Given the description of an element on the screen output the (x, y) to click on. 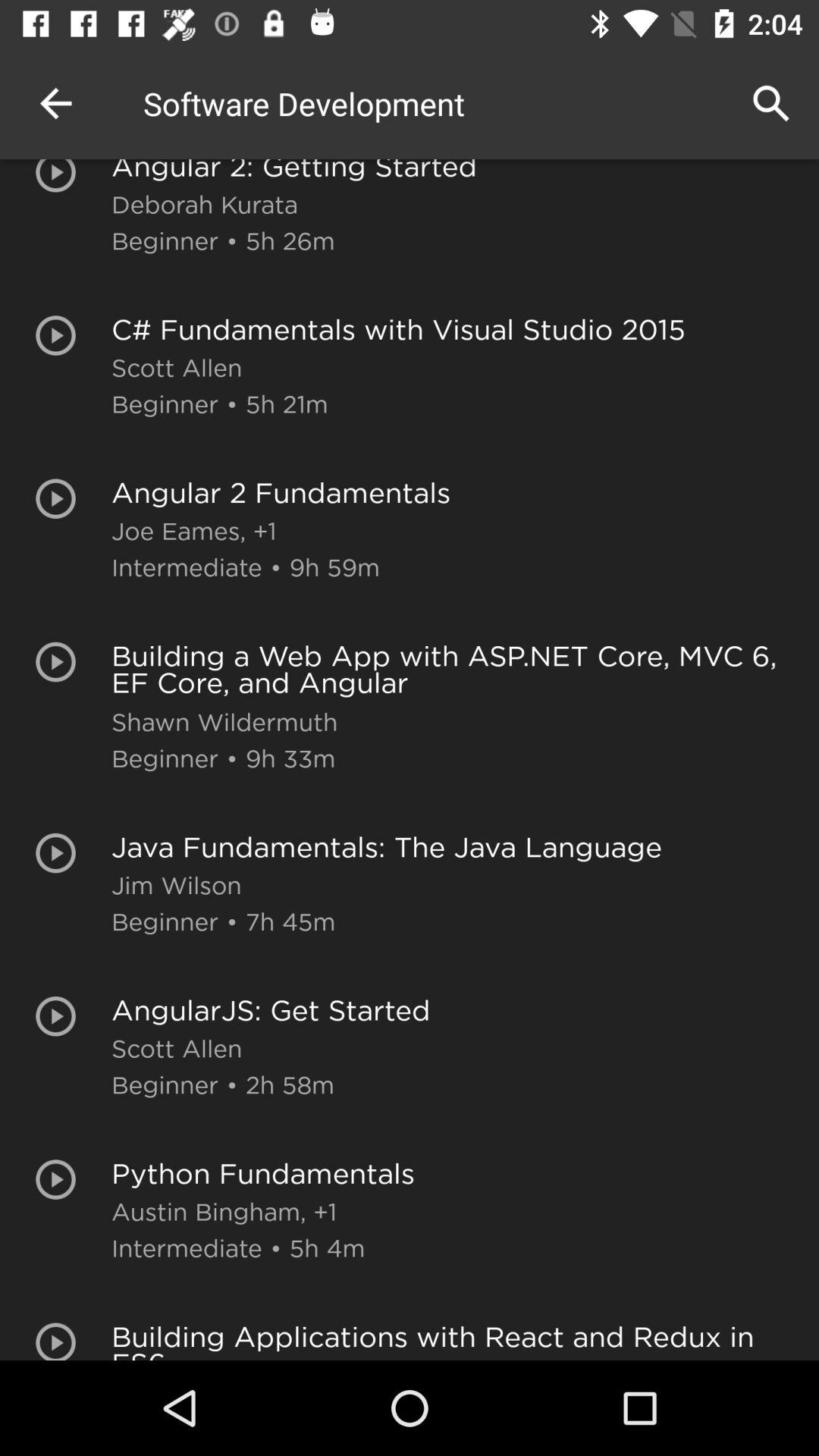
click the item next to the angular 2 getting item (55, 103)
